Given the description of an element on the screen output the (x, y) to click on. 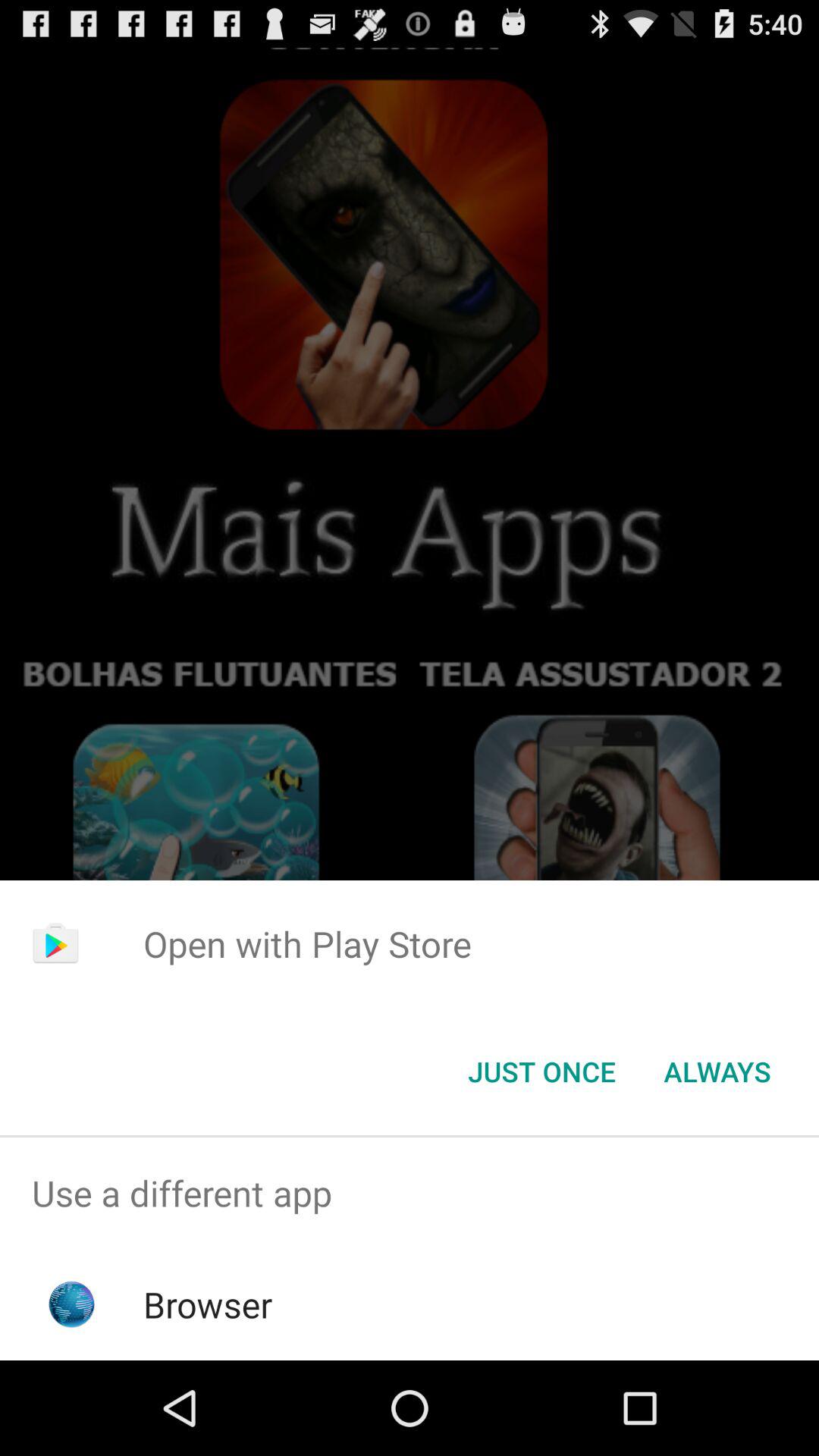
select just once icon (541, 1071)
